Given the description of an element on the screen output the (x, y) to click on. 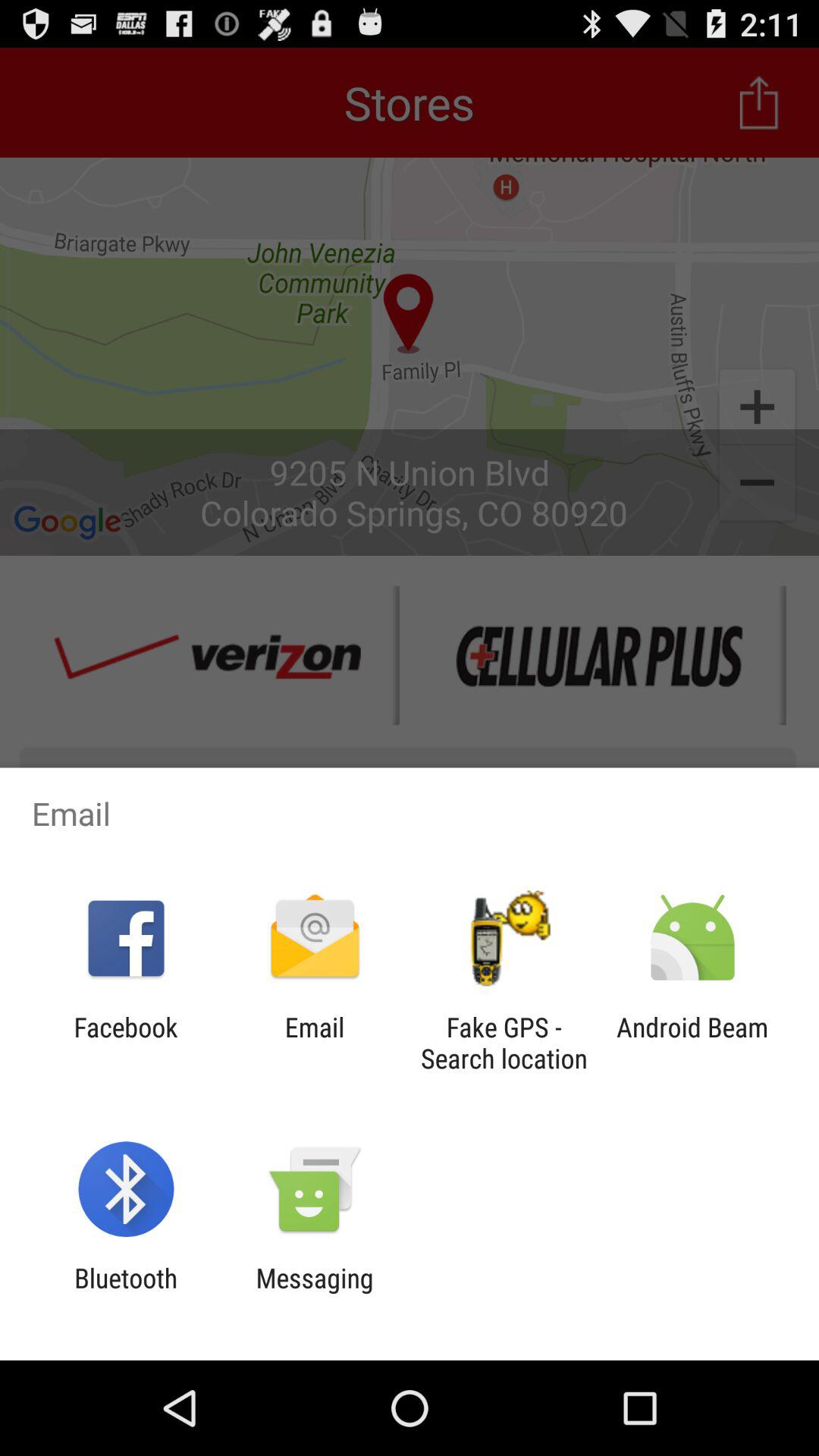
open icon to the right of the fake gps search item (692, 1042)
